Given the description of an element on the screen output the (x, y) to click on. 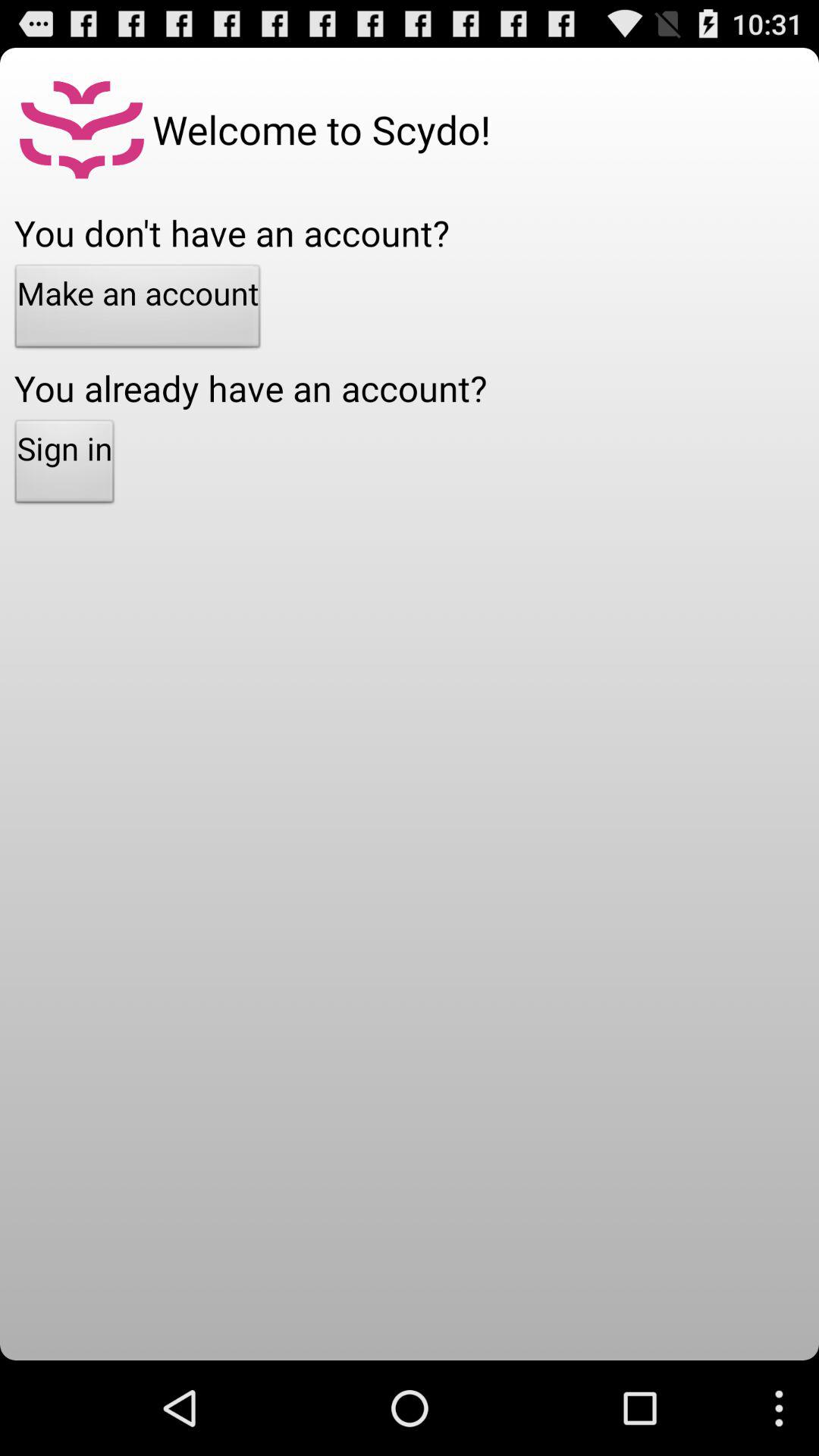
click icon below the you already have icon (64, 465)
